Given the description of an element on the screen output the (x, y) to click on. 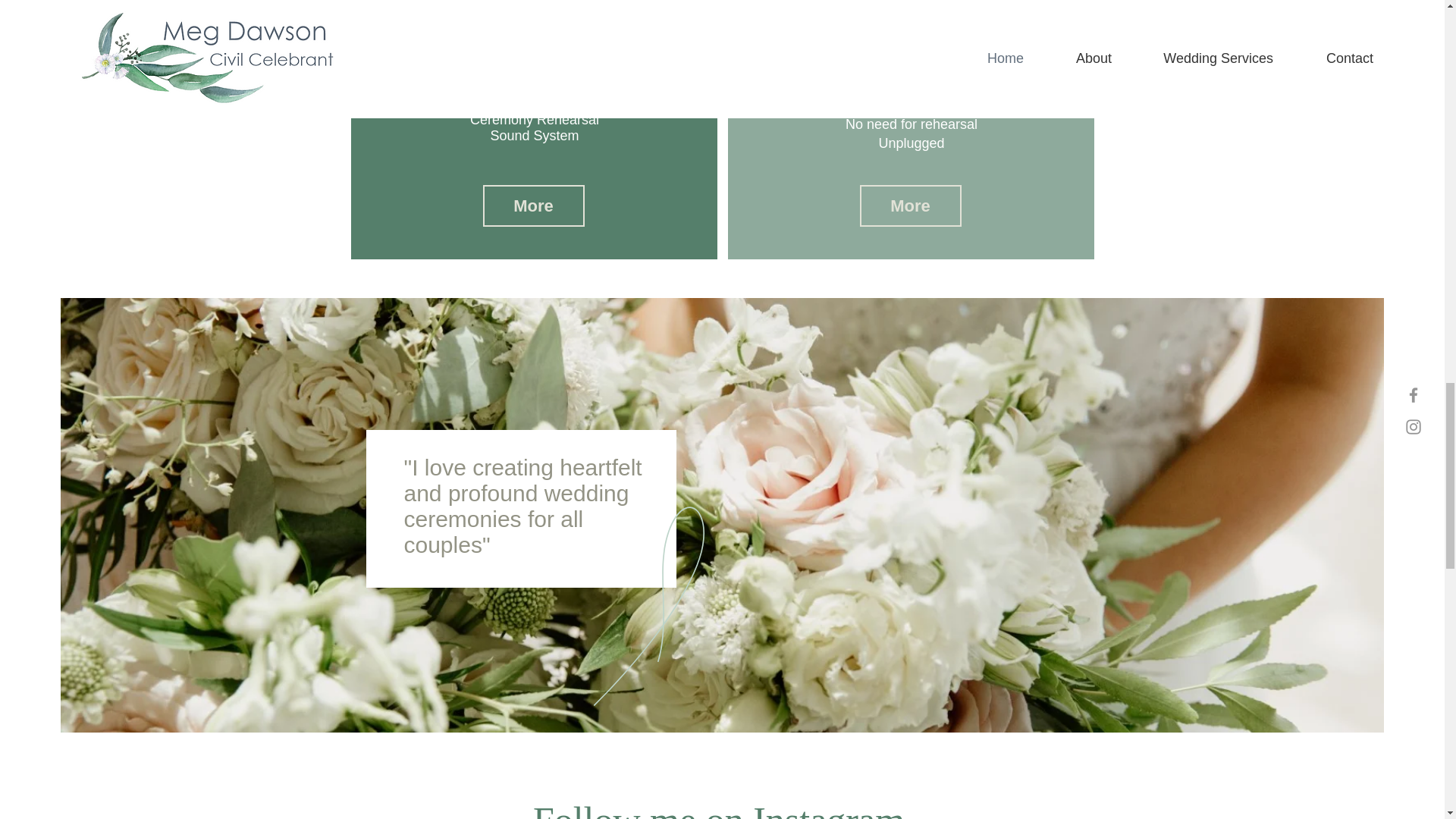
More (910, 205)
More (532, 205)
